Given the description of an element on the screen output the (x, y) to click on. 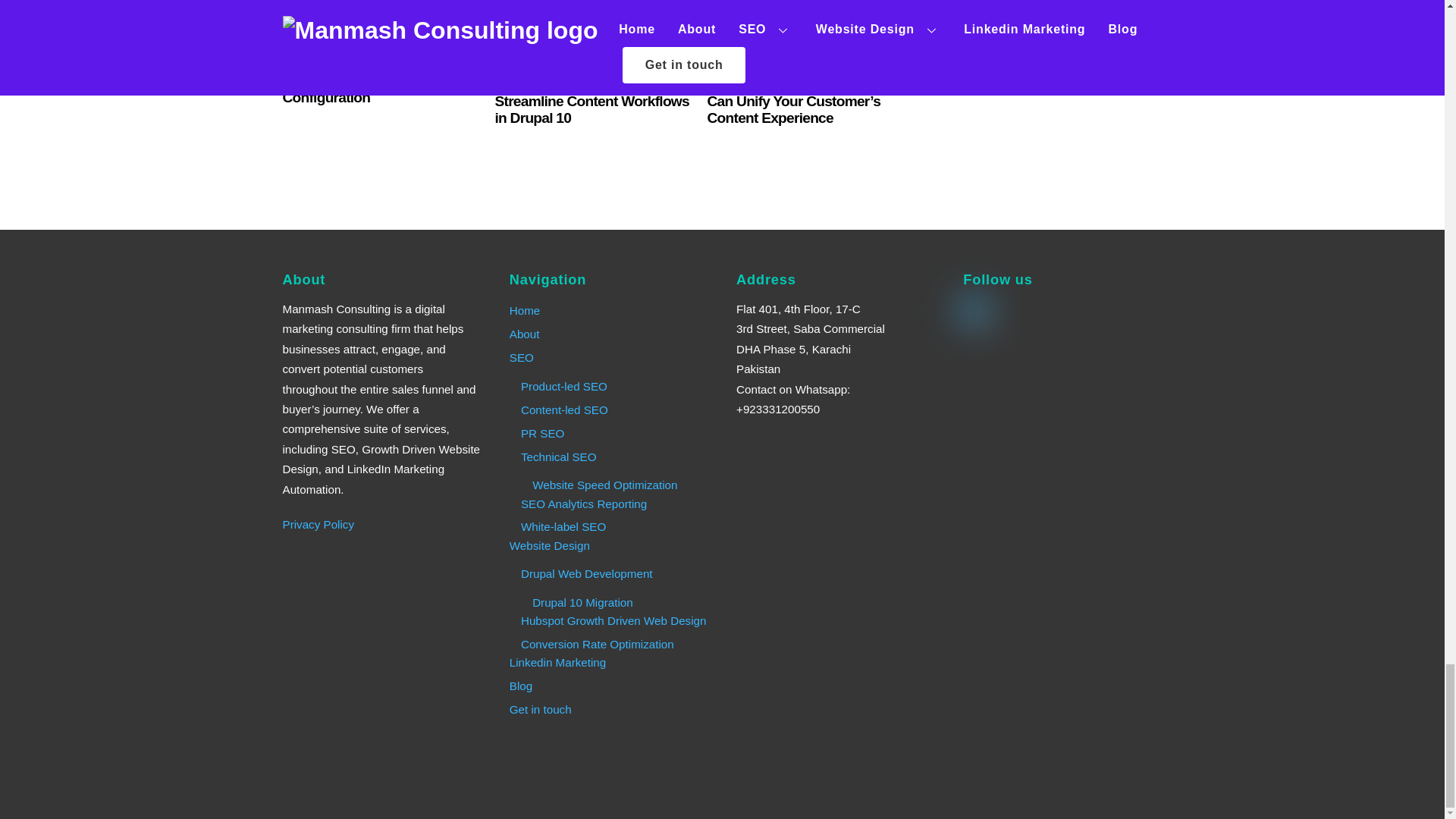
Why-Drupal-Should-Go-Headless-CMS-by-Default-Configuration (381, 14)
Why Drupal Should Go Headless CMS by Default Configuration (363, 80)
BLOG (294, 44)
